Given the description of an element on the screen output the (x, y) to click on. 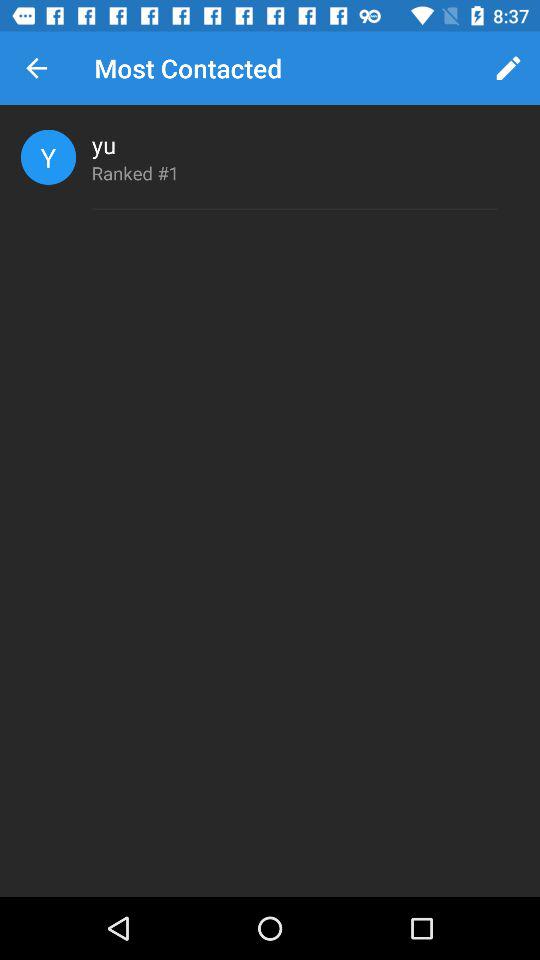
tap item to the left of the yu (48, 156)
